Given the description of an element on the screen output the (x, y) to click on. 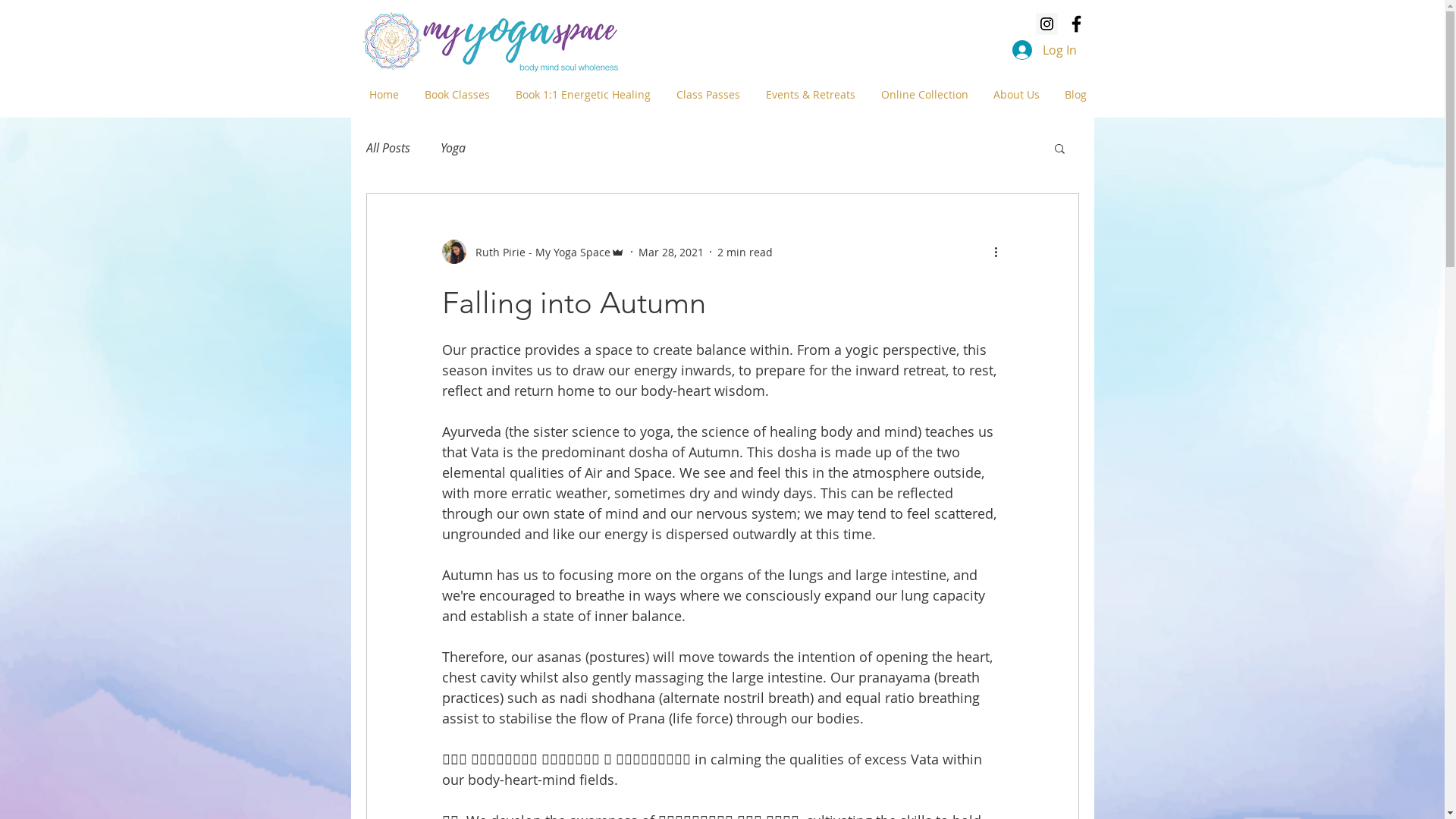
Events & Retreats Element type: text (804, 94)
Log In Element type: text (1043, 49)
About Us Element type: text (1010, 94)
Home Element type: text (377, 94)
Yoga Element type: text (451, 147)
Class Passes Element type: text (702, 94)
Book Classes Element type: text (451, 94)
0 Element type: text (908, 47)
All Posts Element type: text (387, 147)
Book 1:1 Energetic Healing Element type: text (577, 94)
Online Collection Element type: text (918, 94)
Blog Element type: text (1069, 94)
Ruth Pirie - My Yoga Space Element type: text (532, 251)
